Given the description of an element on the screen output the (x, y) to click on. 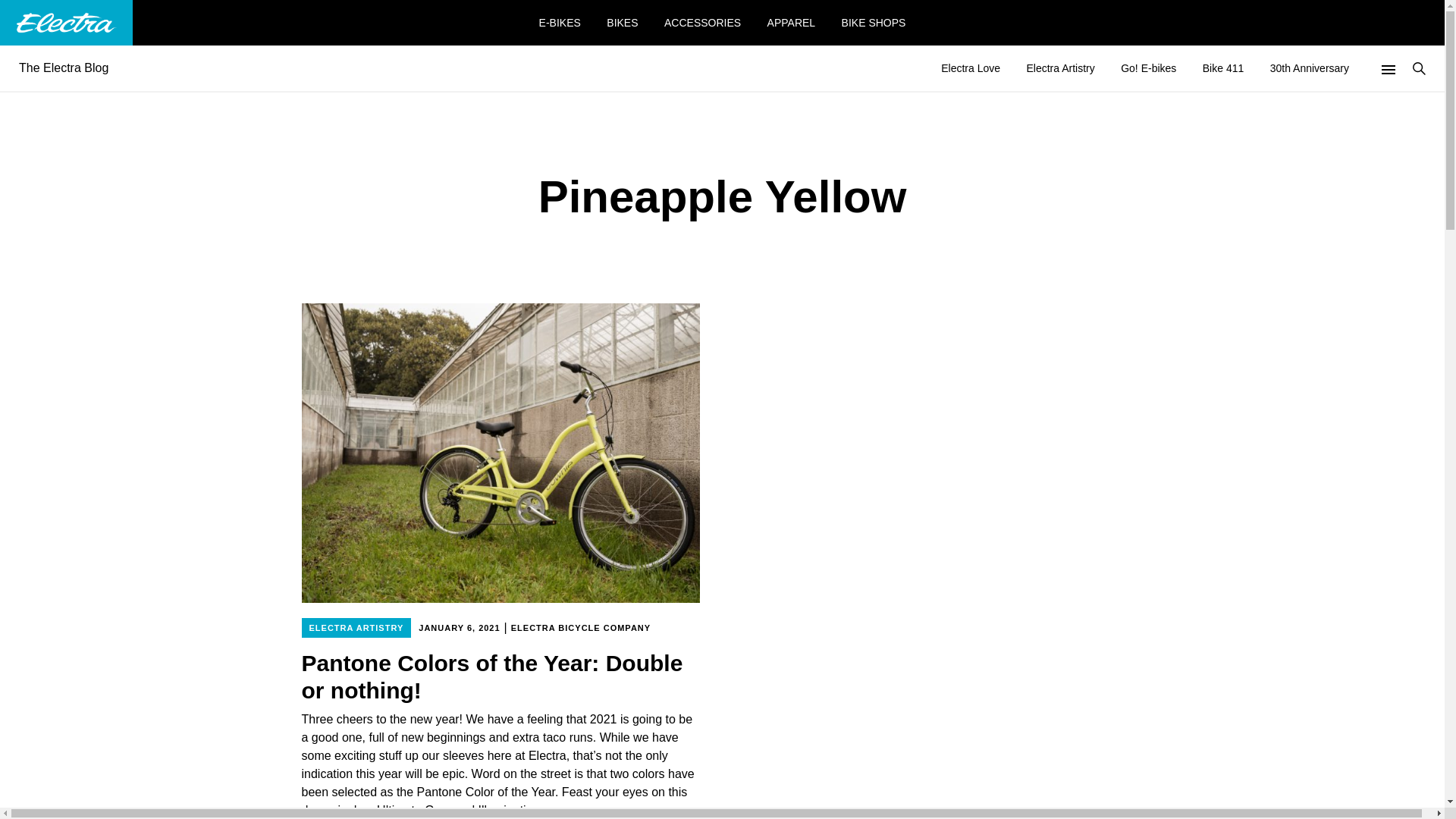
BIKES (622, 22)
Electra Love (970, 67)
ELECTRA BICYCLE COMPANY (579, 628)
ELECTRA ARTISTRY (356, 628)
30th Anniversary (1309, 67)
APPAREL (791, 22)
BIKE SHOPS (873, 22)
The Electra Blog (64, 67)
Bike 411 (1223, 67)
Pantone Colors of the Year: Double or nothing! (500, 677)
Electra Artistry (1059, 67)
ACCESSORIES (702, 22)
Go! E-bikes (1148, 67)
E-BIKES (559, 22)
